Given the description of an element on the screen output the (x, y) to click on. 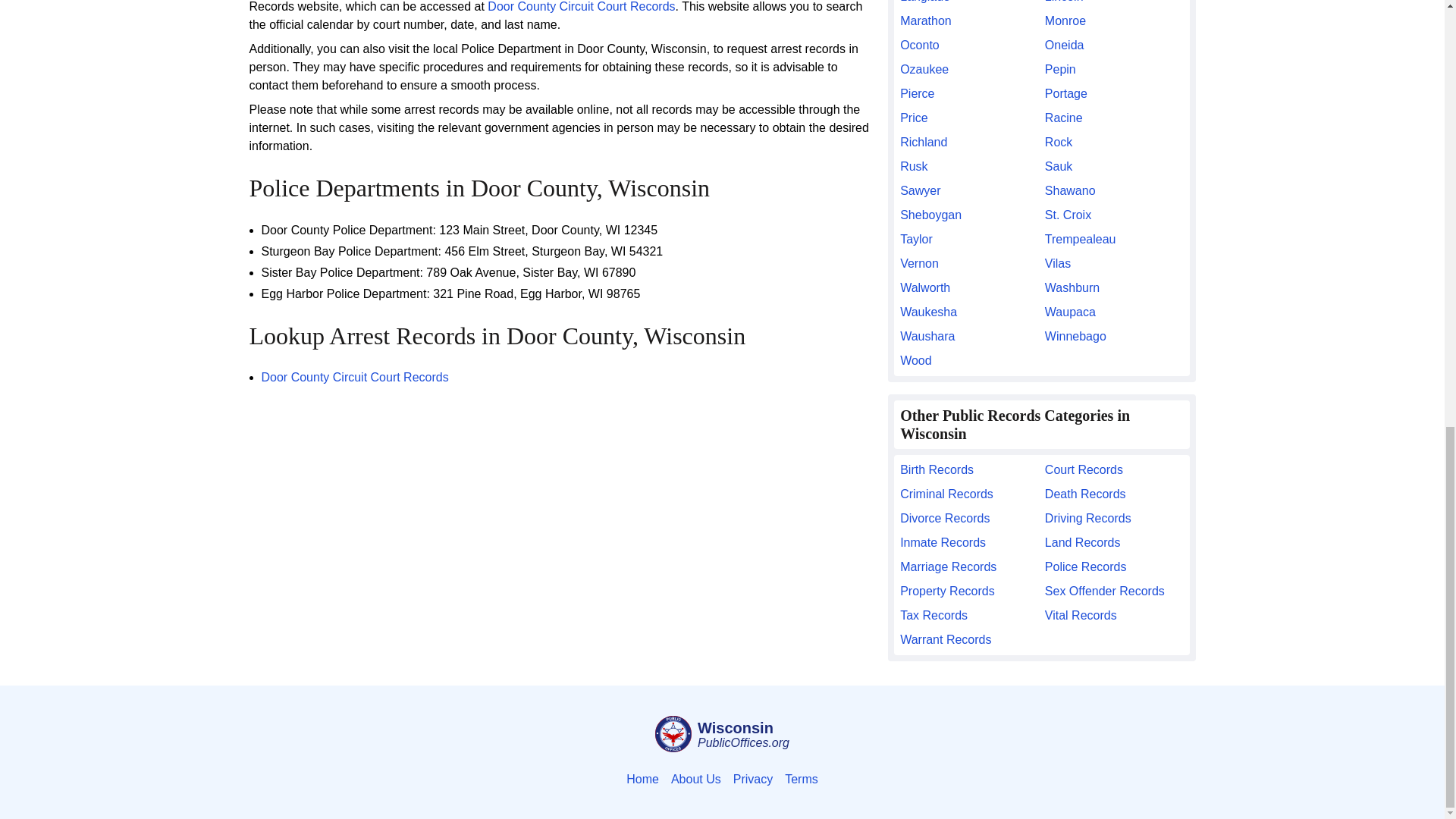
Door County Circuit Court Records (354, 377)
Langlade (969, 2)
Door County Circuit Court Records (581, 6)
